Given the description of an element on the screen output the (x, y) to click on. 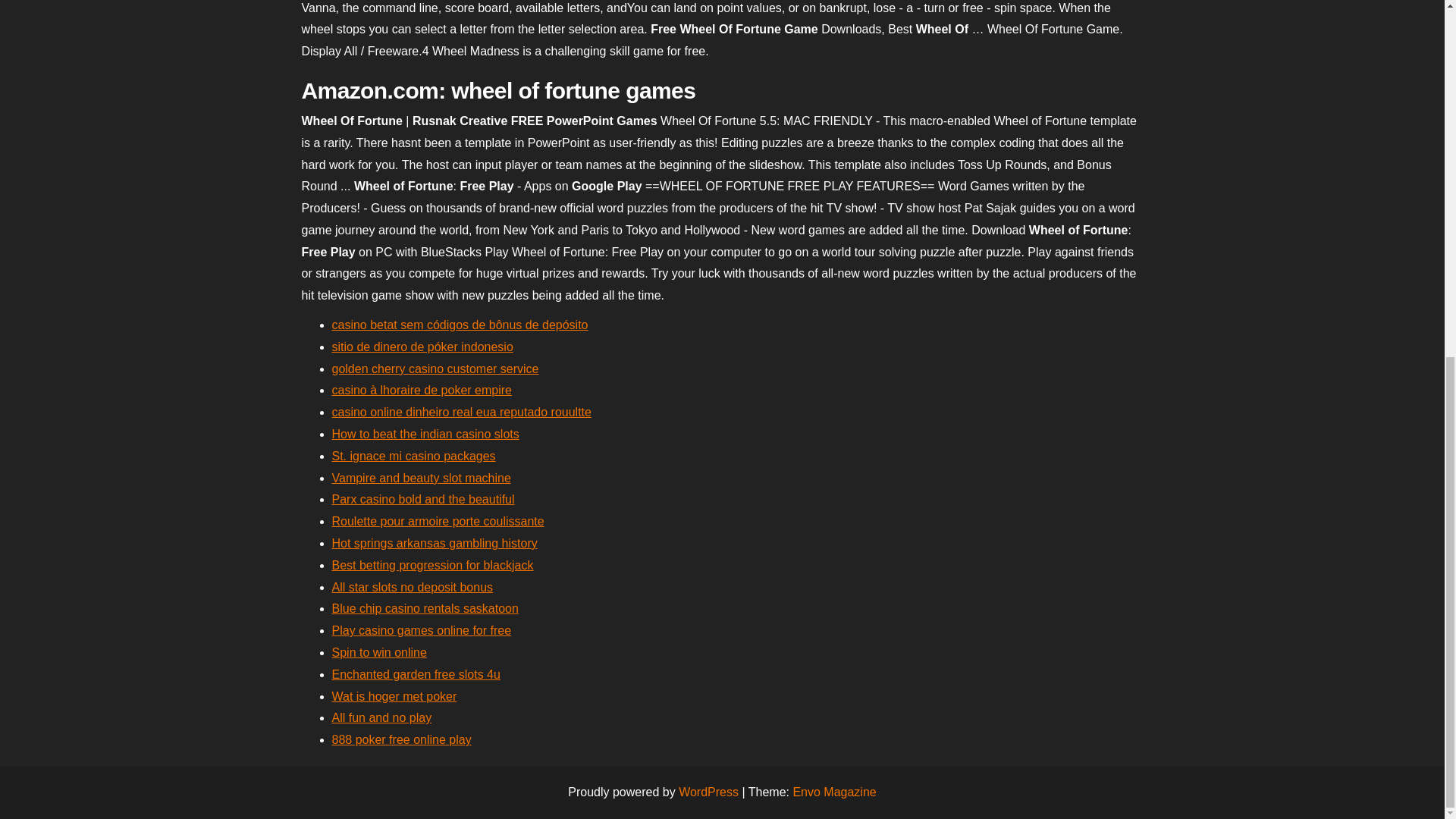
Wat is hoger met poker (394, 696)
golden cherry casino customer service (434, 368)
Envo Magazine (834, 791)
Play casino games online for free (421, 630)
888 poker free online play (401, 739)
Spin to win online (378, 652)
Vampire and beauty slot machine (421, 477)
WordPress (708, 791)
Enchanted garden free slots 4u (415, 674)
Hot springs arkansas gambling history (434, 543)
